Given the description of an element on the screen output the (x, y) to click on. 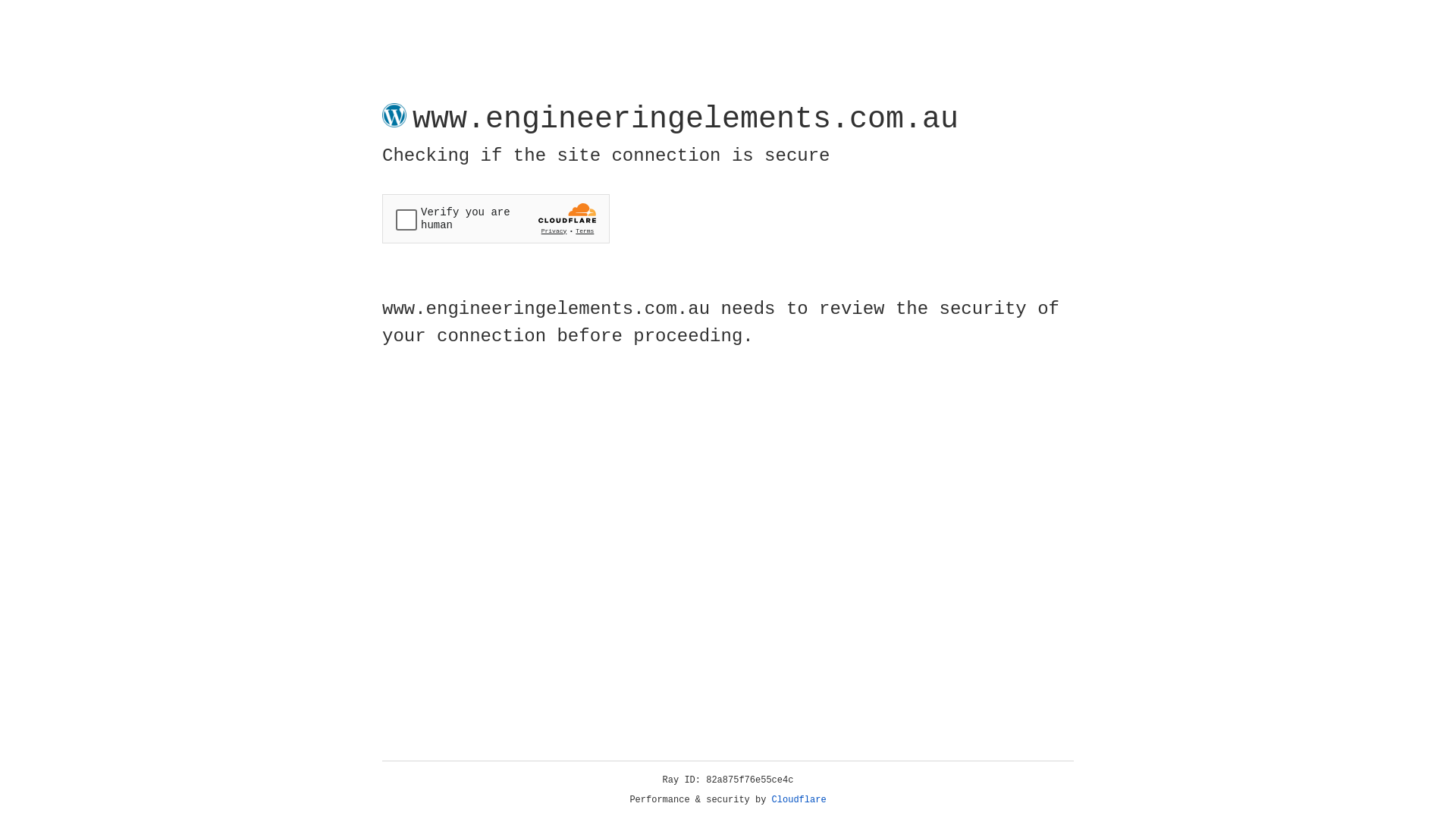
Widget containing a Cloudflare security challenge Element type: hover (495, 218)
Cloudflare Element type: text (798, 799)
